Given the description of an element on the screen output the (x, y) to click on. 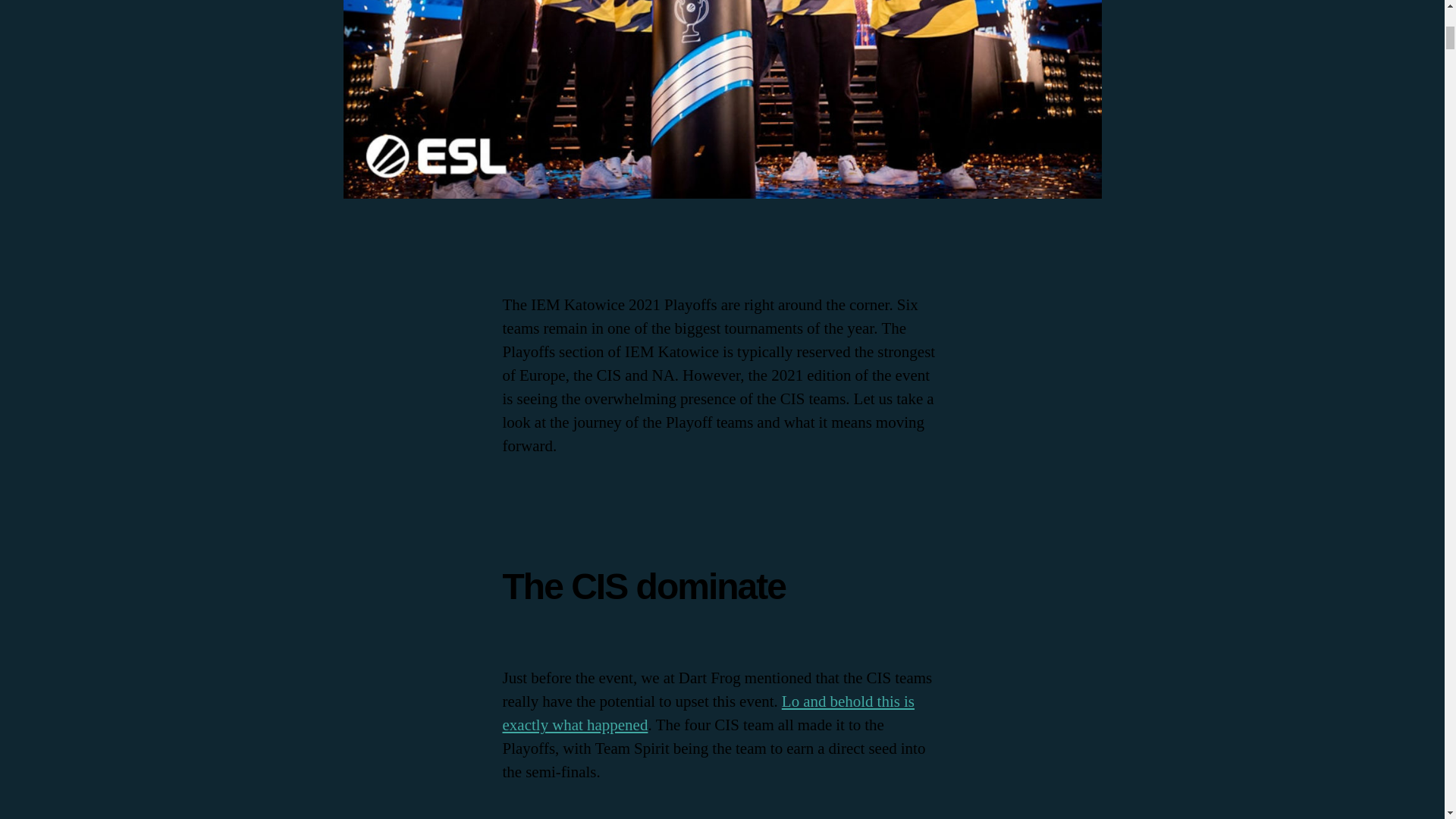
Lo and behold this is exactly what happened (708, 713)
